Given the description of an element on the screen output the (x, y) to click on. 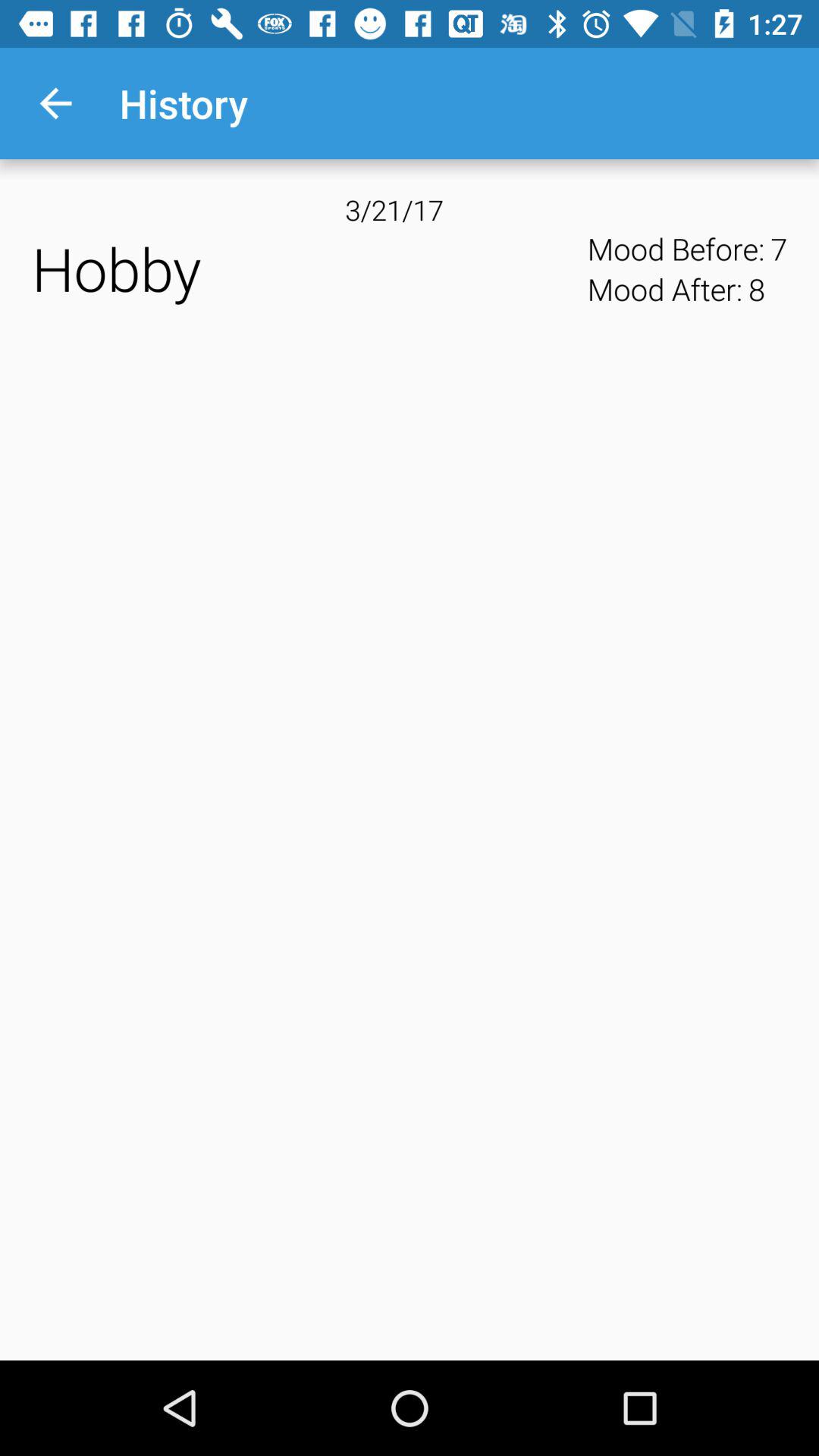
choose the icon next to mood before: (304, 268)
